Given the description of an element on the screen output the (x, y) to click on. 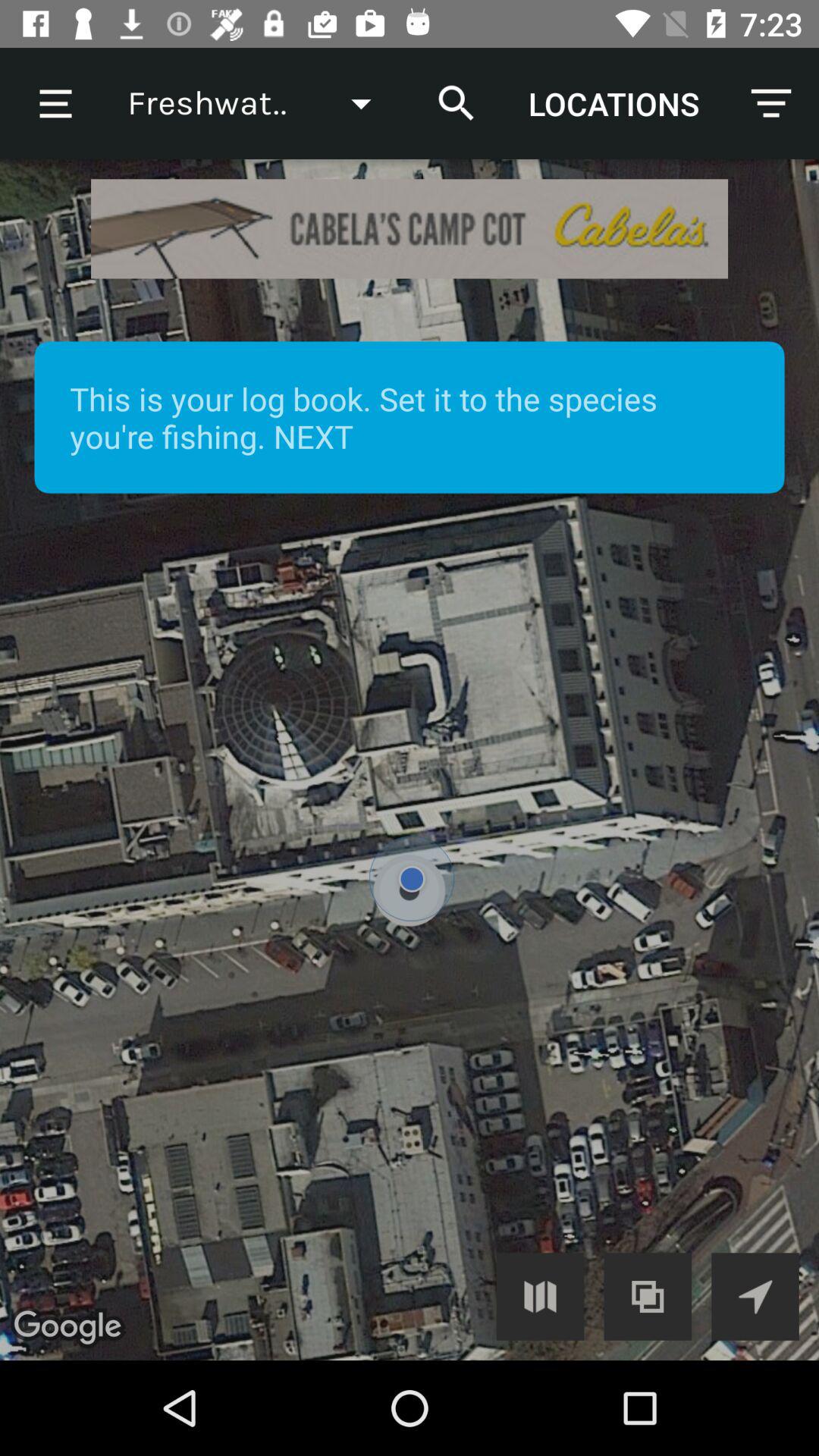
drop point (409, 759)
